Given the description of an element on the screen output the (x, y) to click on. 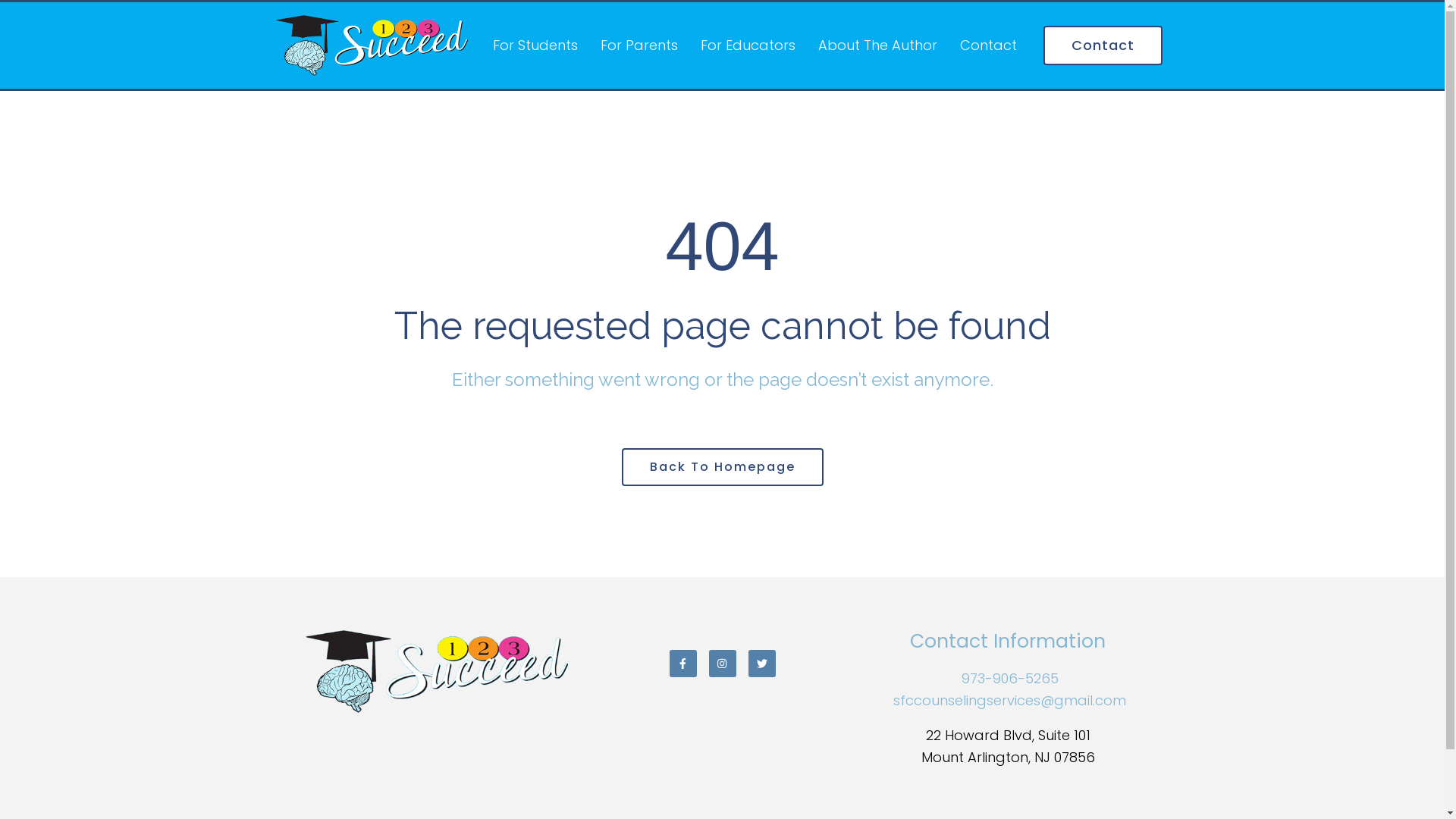
For Parents Element type: text (638, 45)
973-906-5265 Element type: text (1009, 677)
For Students Element type: text (534, 45)
Back To Homepage Element type: text (722, 467)
Contact Element type: text (988, 45)
About The Author Element type: text (876, 45)
Contact Element type: text (1102, 45)
For Educators Element type: text (747, 45)
sfccounselingservices@gmail.com Element type: text (1009, 699)
